Given the description of an element on the screen output the (x, y) to click on. 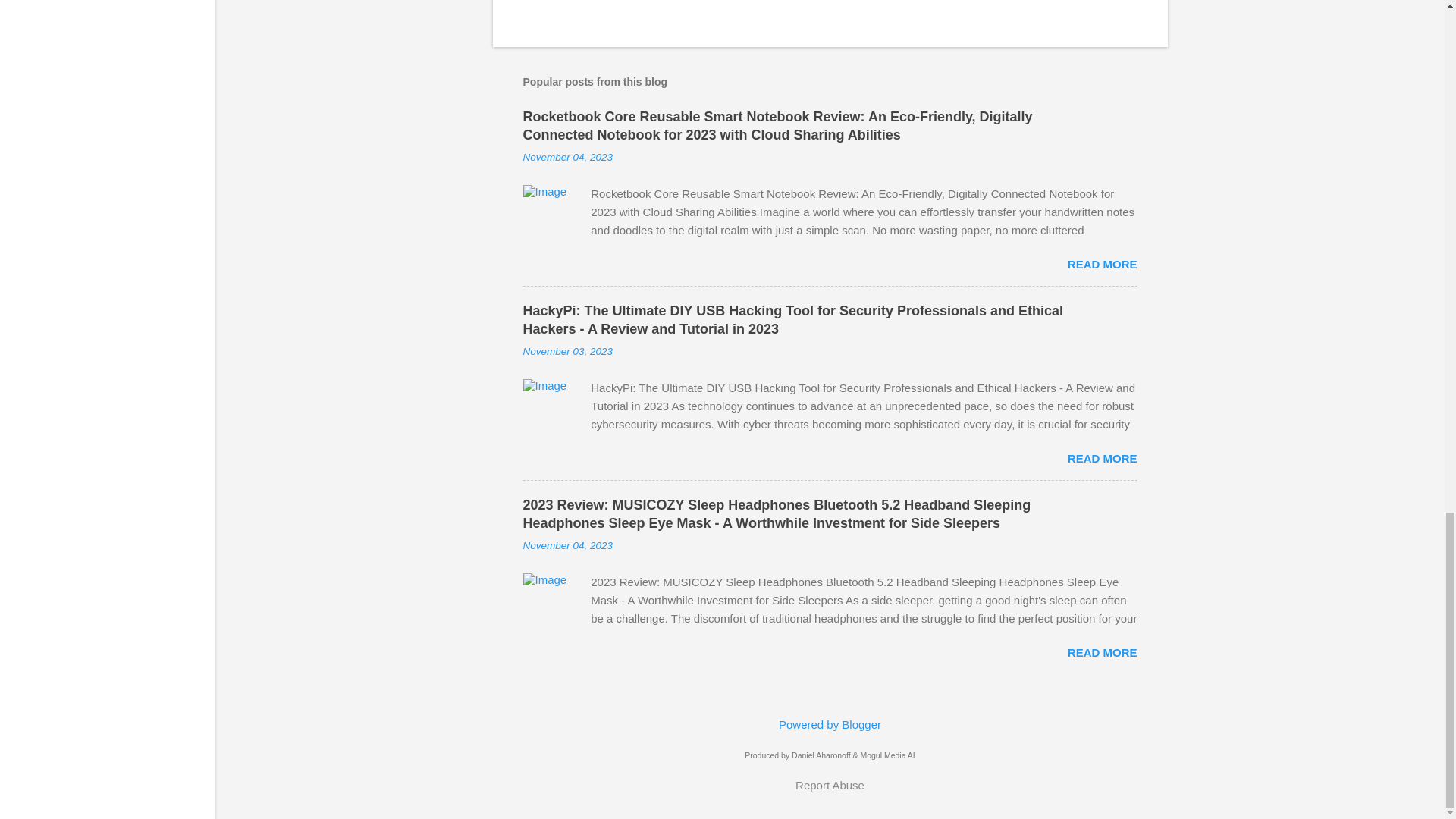
READ MORE (1102, 264)
permanent link (567, 156)
READ MORE (1102, 458)
November 04, 2023 (567, 156)
November 04, 2023 (567, 545)
READ MORE (1102, 652)
permanent link (567, 545)
permanent link (567, 351)
November 03, 2023 (567, 351)
Report Abuse (829, 784)
